Given the description of an element on the screen output the (x, y) to click on. 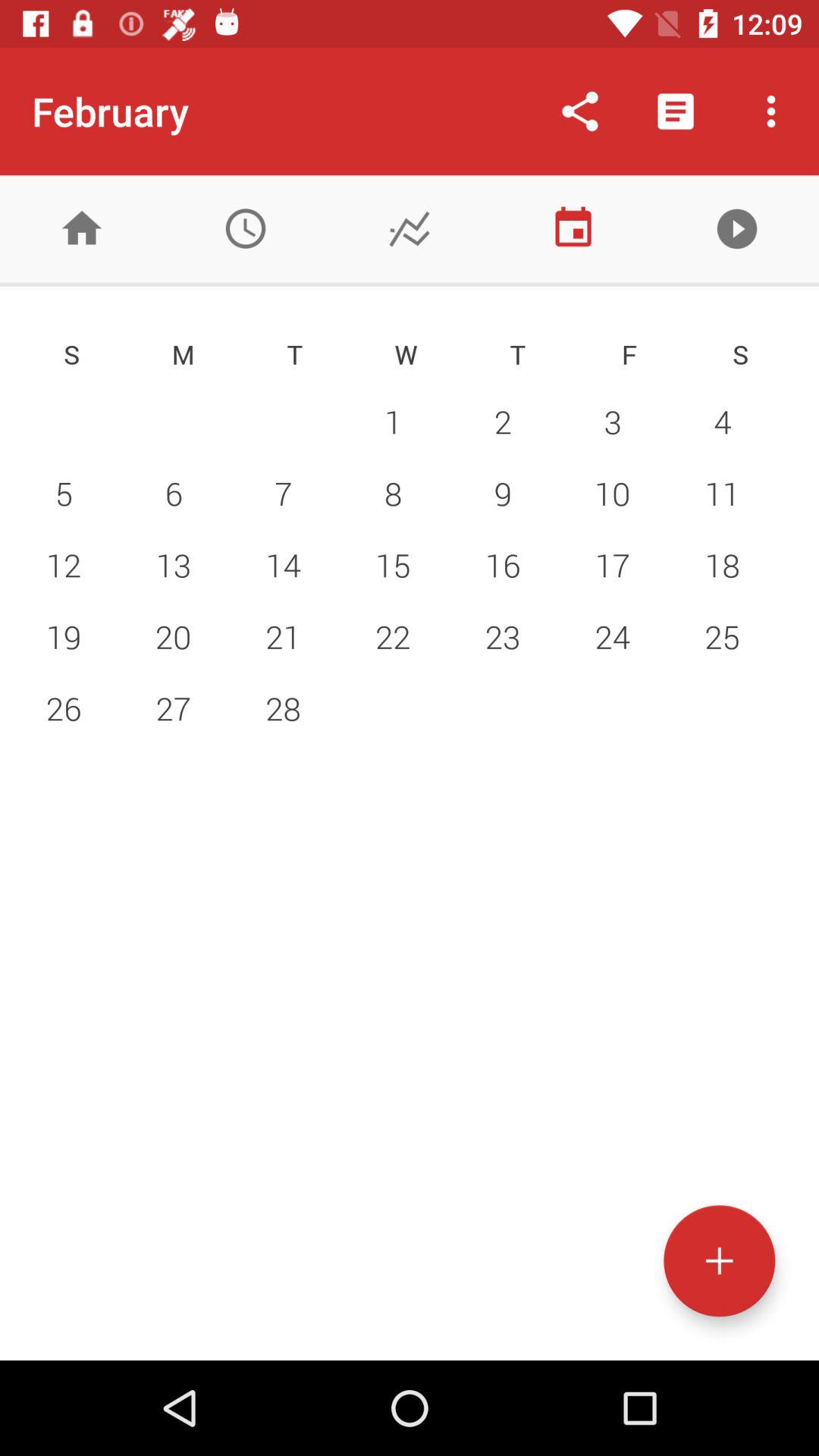
go to home menu (81, 228)
